Given the description of an element on the screen output the (x, y) to click on. 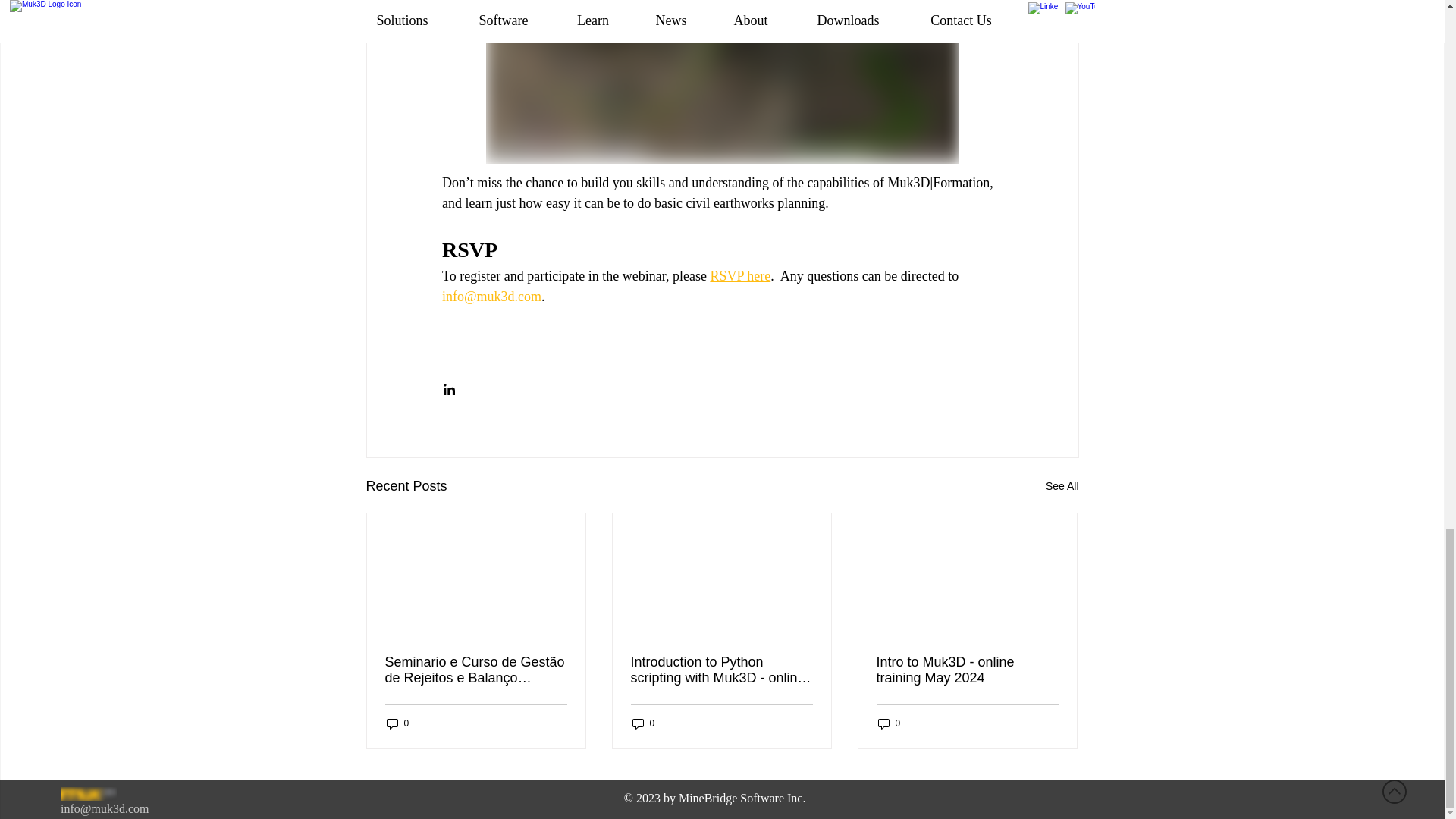
RSVP here (740, 275)
See All (1061, 486)
